Given the description of an element on the screen output the (x, y) to click on. 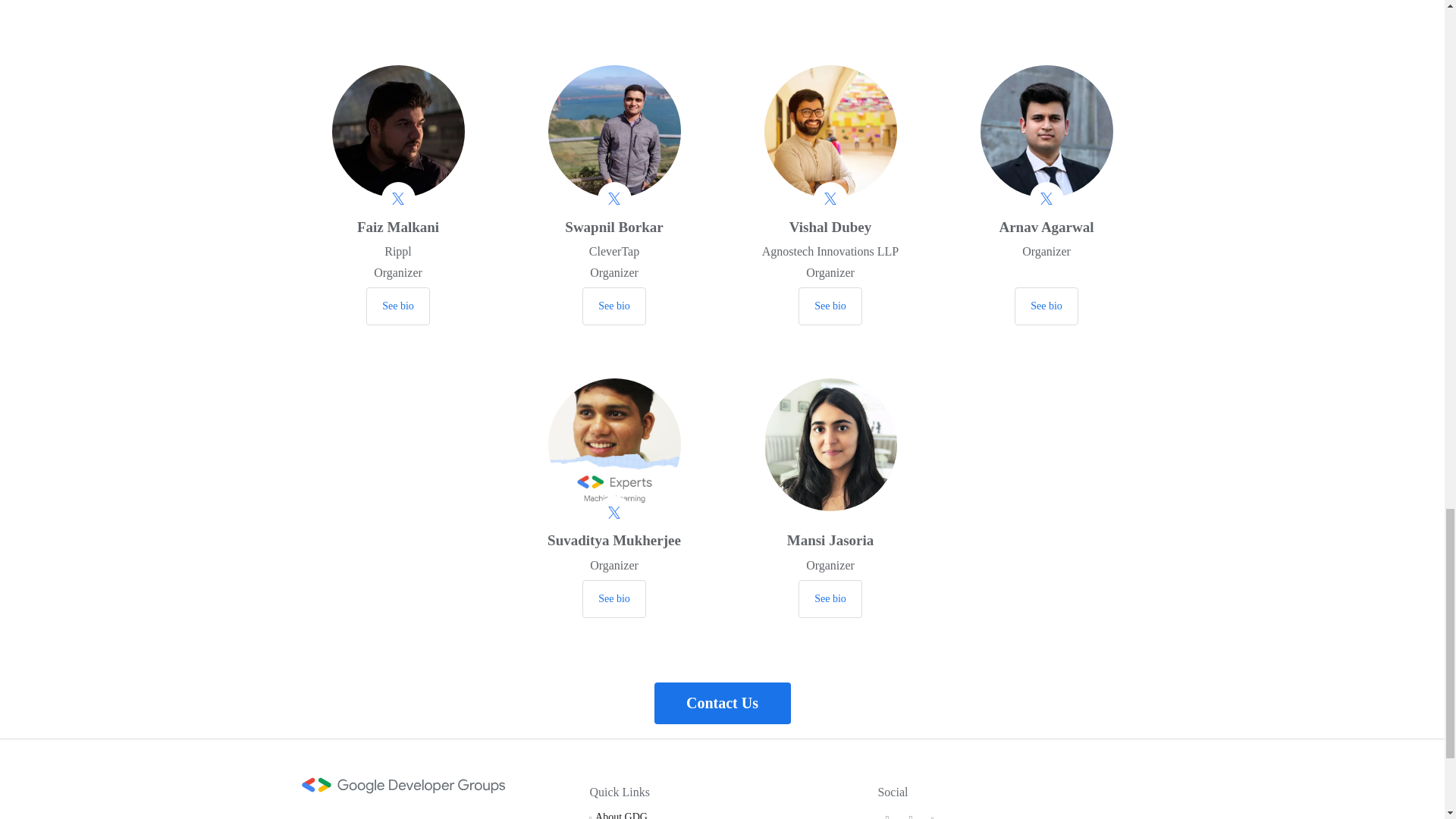
LinkedIn (910, 816)
See bio (397, 306)
See bio (614, 306)
See bio (1046, 306)
YouTube (933, 816)
See bio (829, 306)
X (886, 816)
See bio (829, 598)
See bio (614, 598)
